Given the description of an element on the screen output the (x, y) to click on. 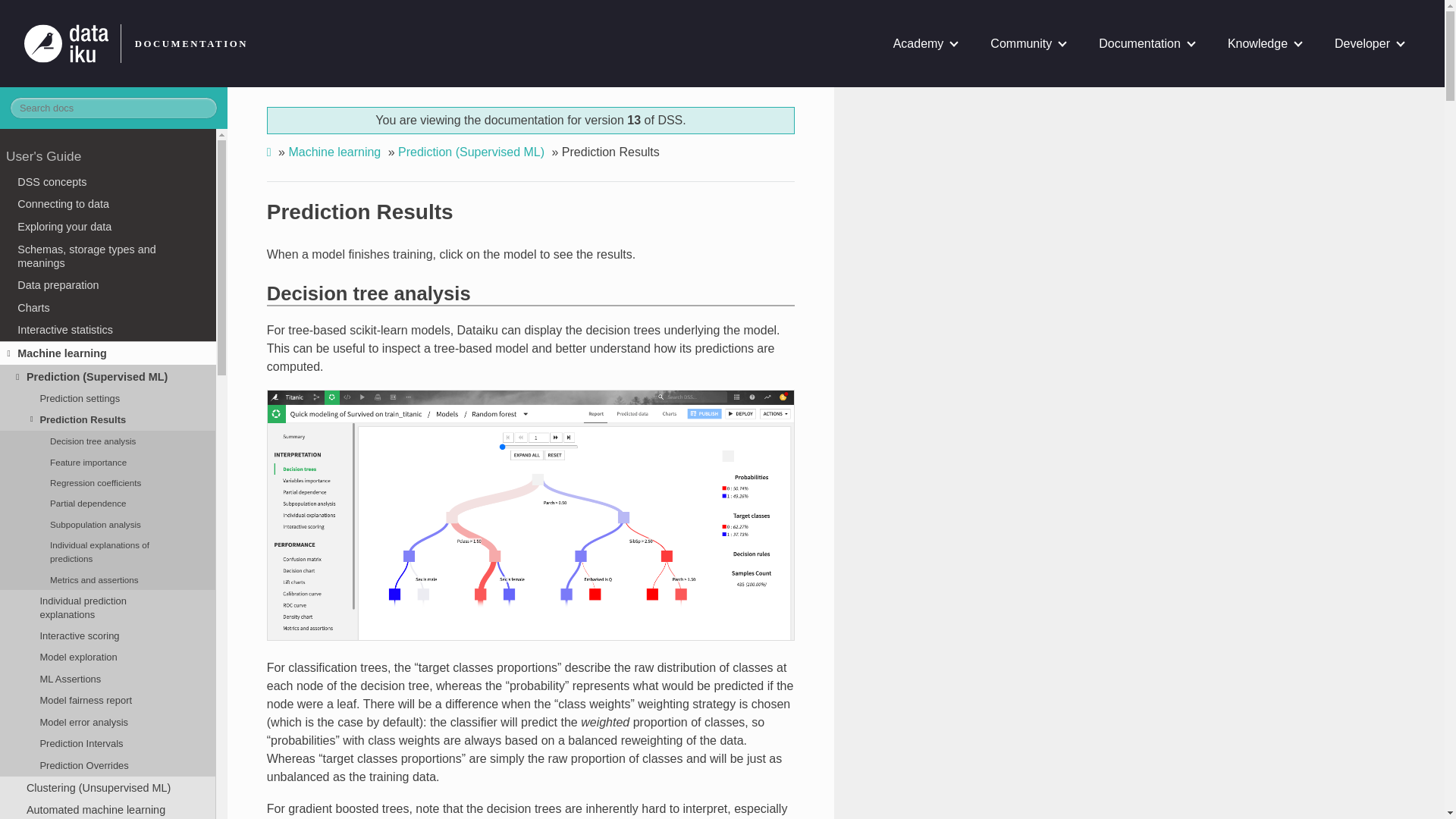
Documentation (1146, 43)
DOCUMENTATION (186, 43)
